Given the description of an element on the screen output the (x, y) to click on. 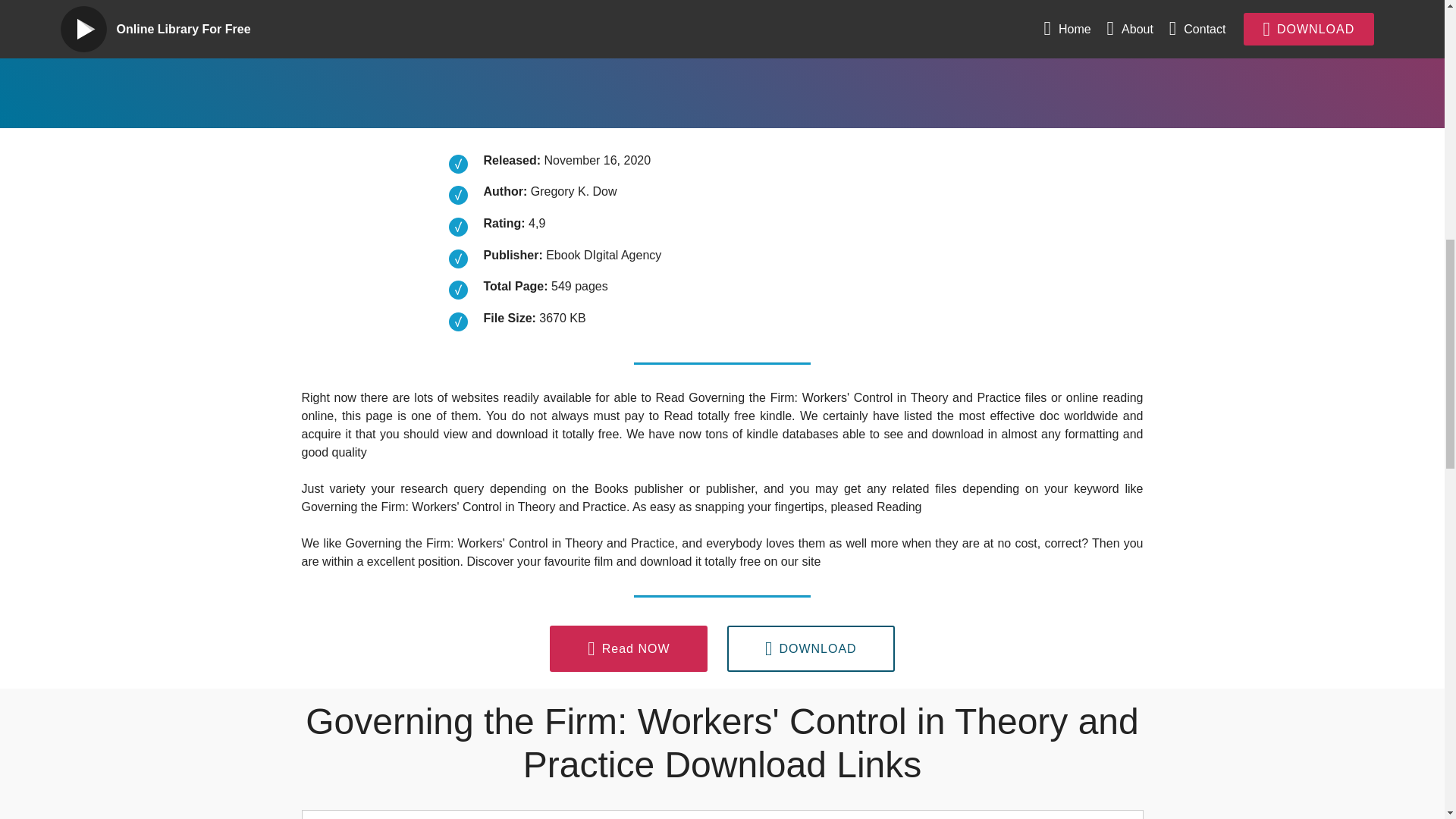
Read NOW (628, 648)
DOWNLOAD (810, 648)
Read NOW (454, 31)
DOWNLOAD (641, 31)
